Given the description of an element on the screen output the (x, y) to click on. 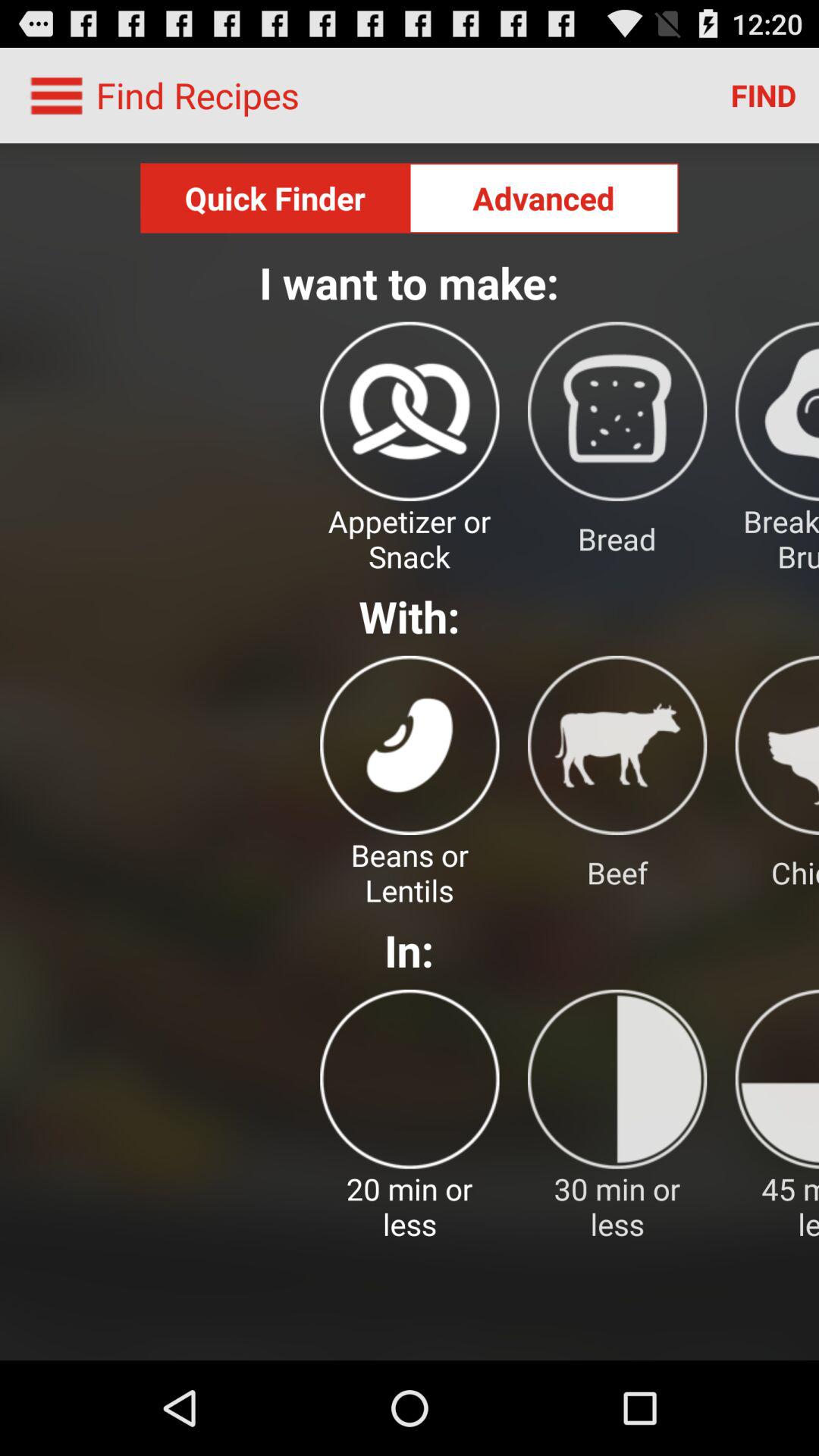
press the advanced (543, 198)
